Given the description of an element on the screen output the (x, y) to click on. 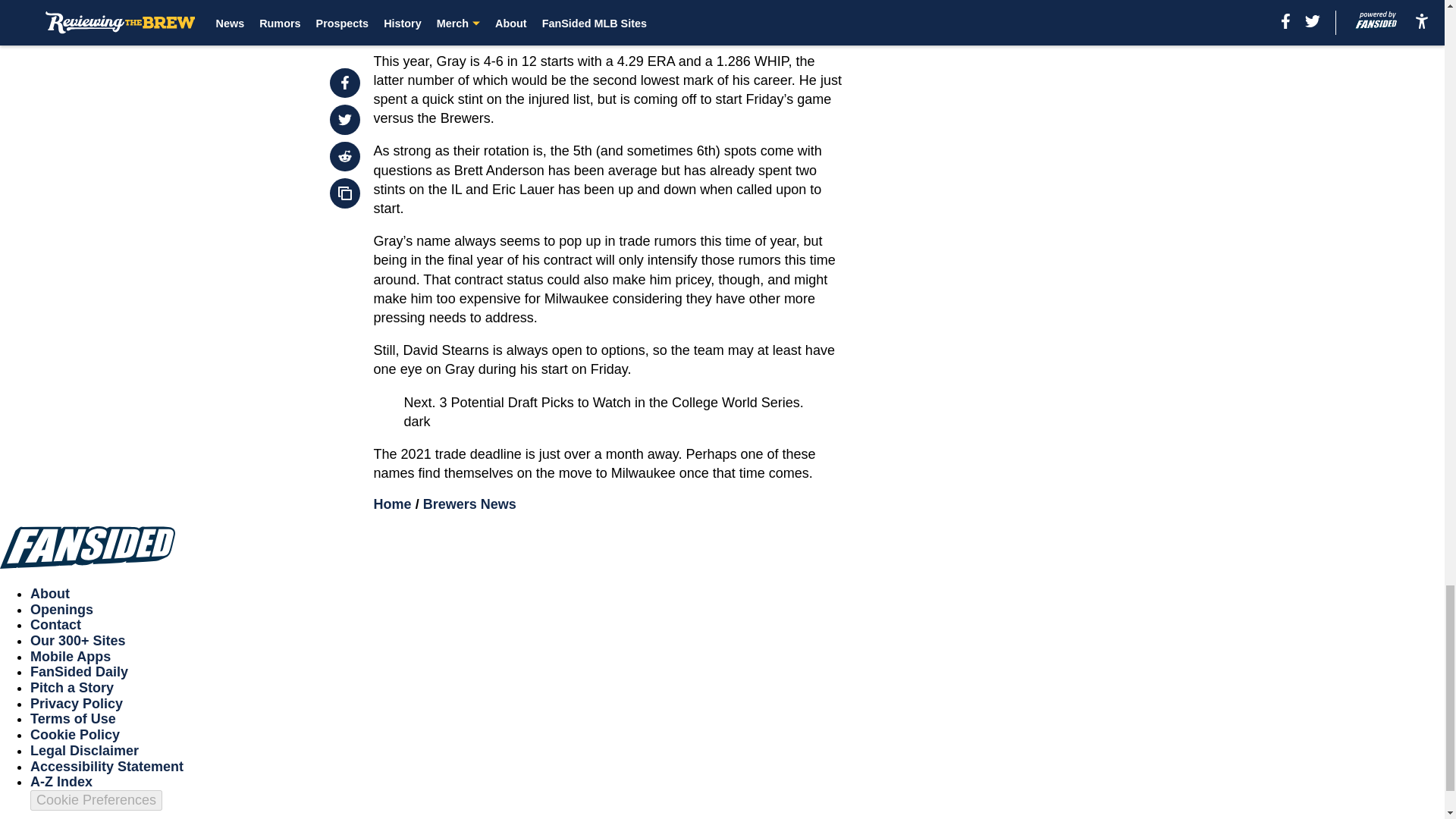
Brewers News (469, 503)
Home (393, 503)
About (49, 593)
